Given the description of an element on the screen output the (x, y) to click on. 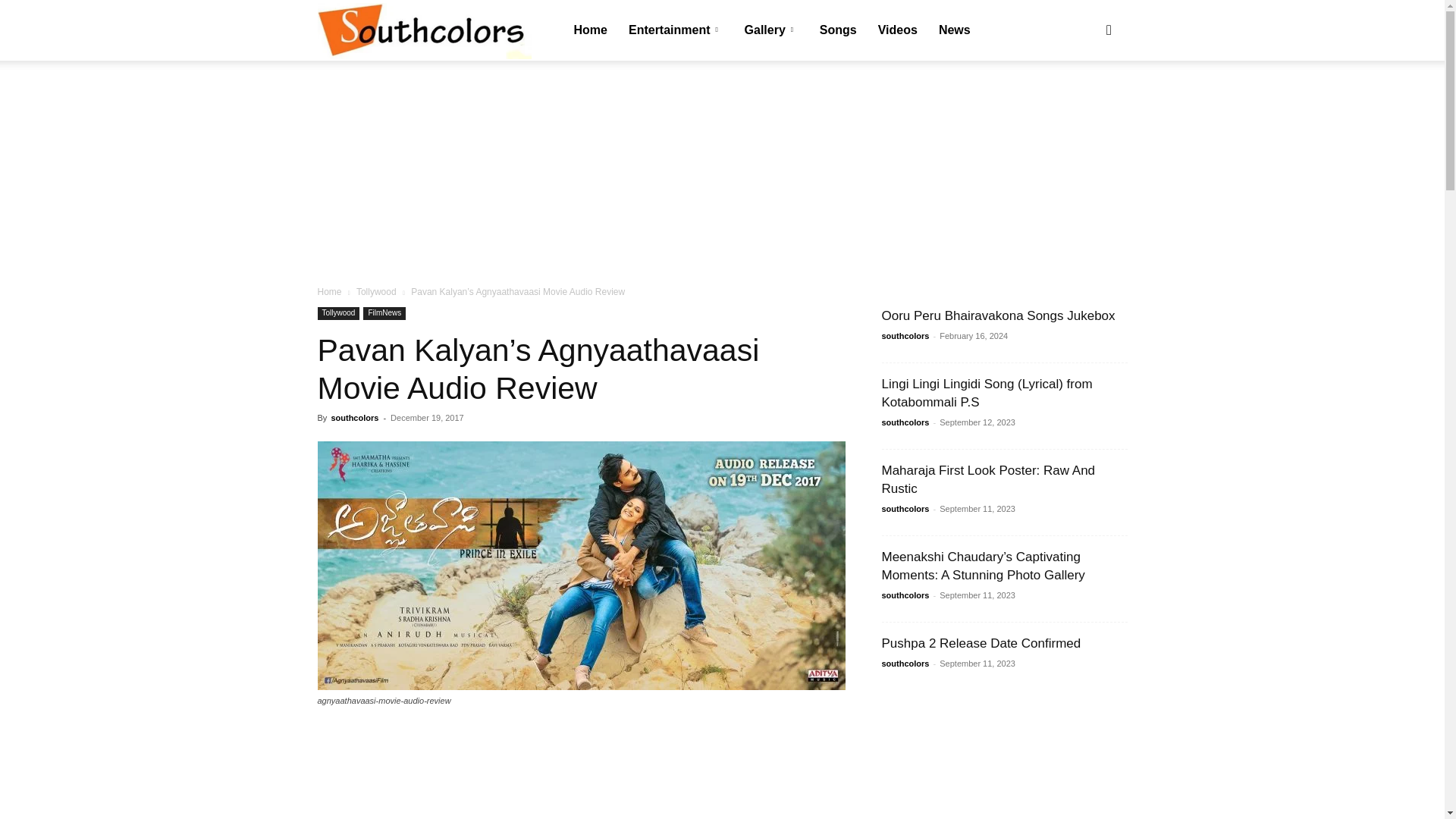
agnyaathavaasi-movie-audio-review (580, 565)
SouthColors (424, 30)
Entertainment (675, 30)
Home (590, 30)
Home (328, 291)
View all posts in Tollywood (376, 291)
Search (1085, 102)
Tollywood (338, 313)
FilmNews (384, 313)
Videos (897, 30)
Advertisement (581, 773)
Tollywood (376, 291)
southcolors (424, 30)
Songs (838, 30)
